Given the description of an element on the screen output the (x, y) to click on. 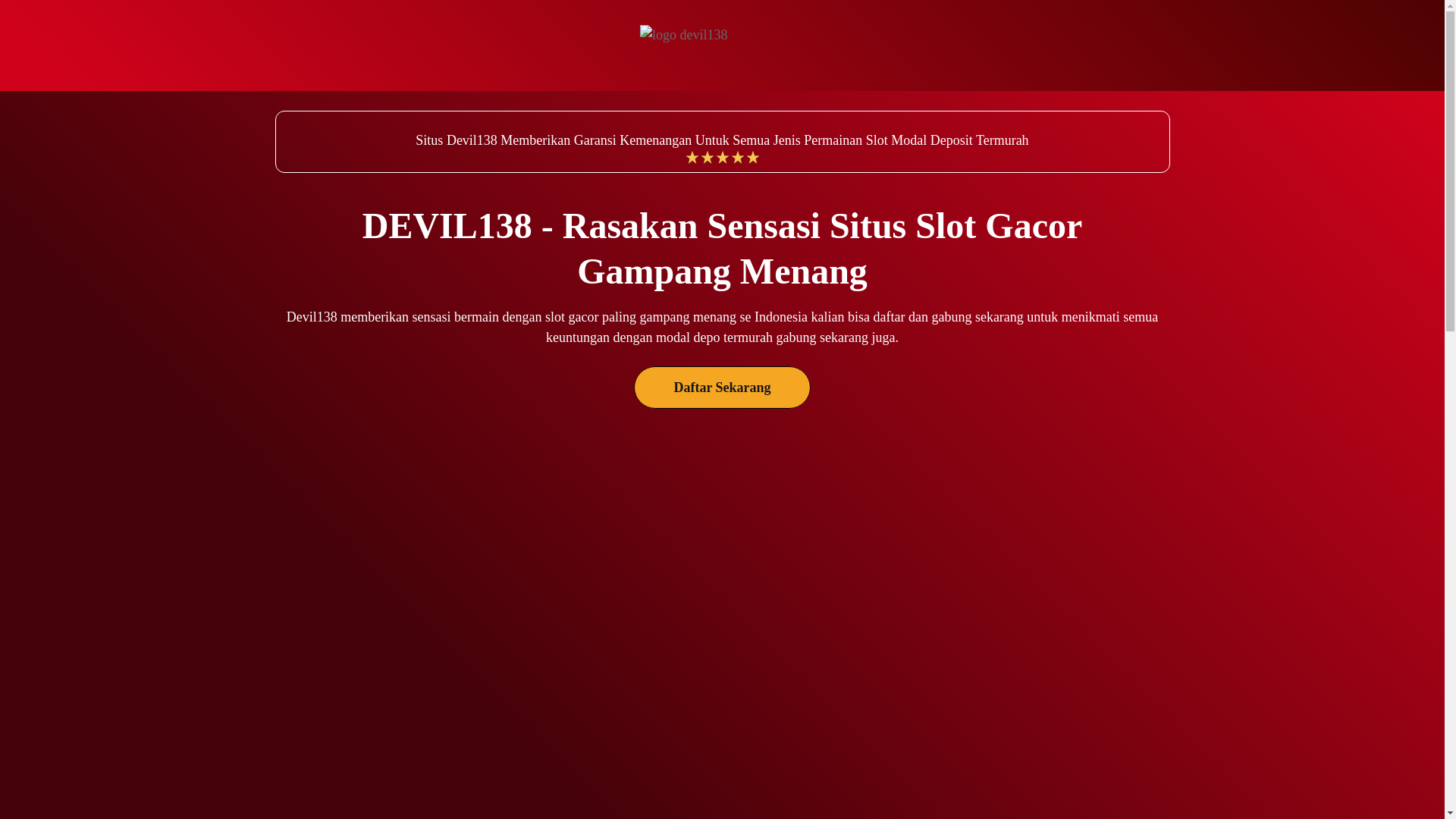
Daftar Sekarang (721, 386)
